Given the description of an element on the screen output the (x, y) to click on. 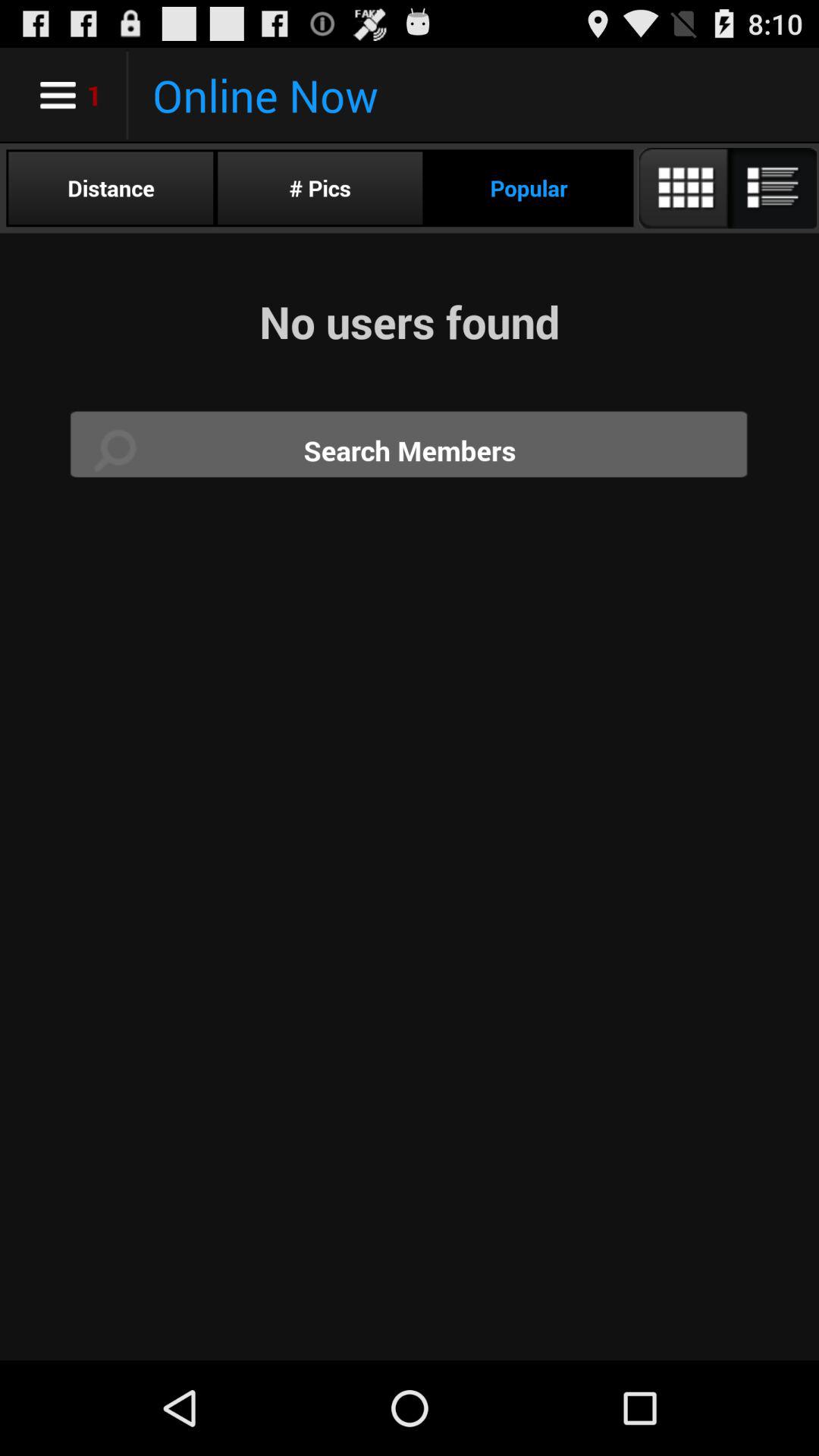
select the icon next to the popular icon (319, 187)
